Given the description of an element on the screen output the (x, y) to click on. 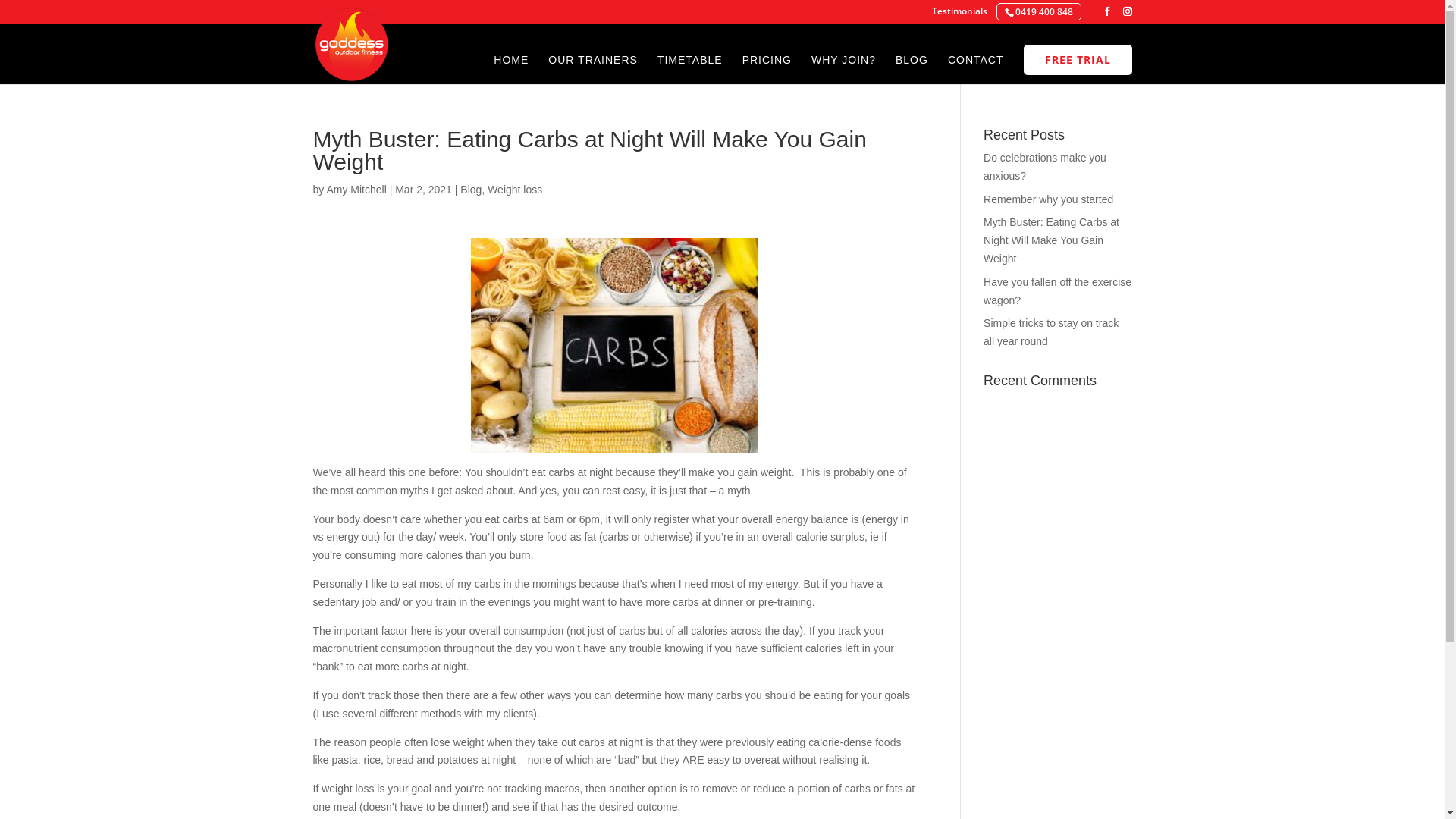
OUR TRAINERS Element type: text (592, 69)
Have you fallen off the exercise wagon? Element type: text (1057, 291)
Weight loss Element type: text (514, 189)
HOME Element type: text (510, 69)
Remember why you started Element type: text (1048, 199)
WHY JOIN? Element type: text (843, 69)
Do celebrations make you anxious? Element type: text (1044, 166)
Simple tricks to stay on track all year round Element type: text (1050, 331)
Amy Mitchell Element type: text (355, 189)
0419 400 848 Element type: text (1043, 11)
BLOG Element type: text (911, 69)
TIMETABLE Element type: text (689, 69)
Myth Buster: Eating Carbs at Night Will Make You Gain Weight Element type: text (1051, 240)
PRICING Element type: text (766, 69)
CONTACT Element type: text (975, 69)
FREE TRIAL Element type: text (1077, 59)
Blog Element type: text (470, 189)
Testimonials Element type: text (958, 14)
